Given the description of an element on the screen output the (x, y) to click on. 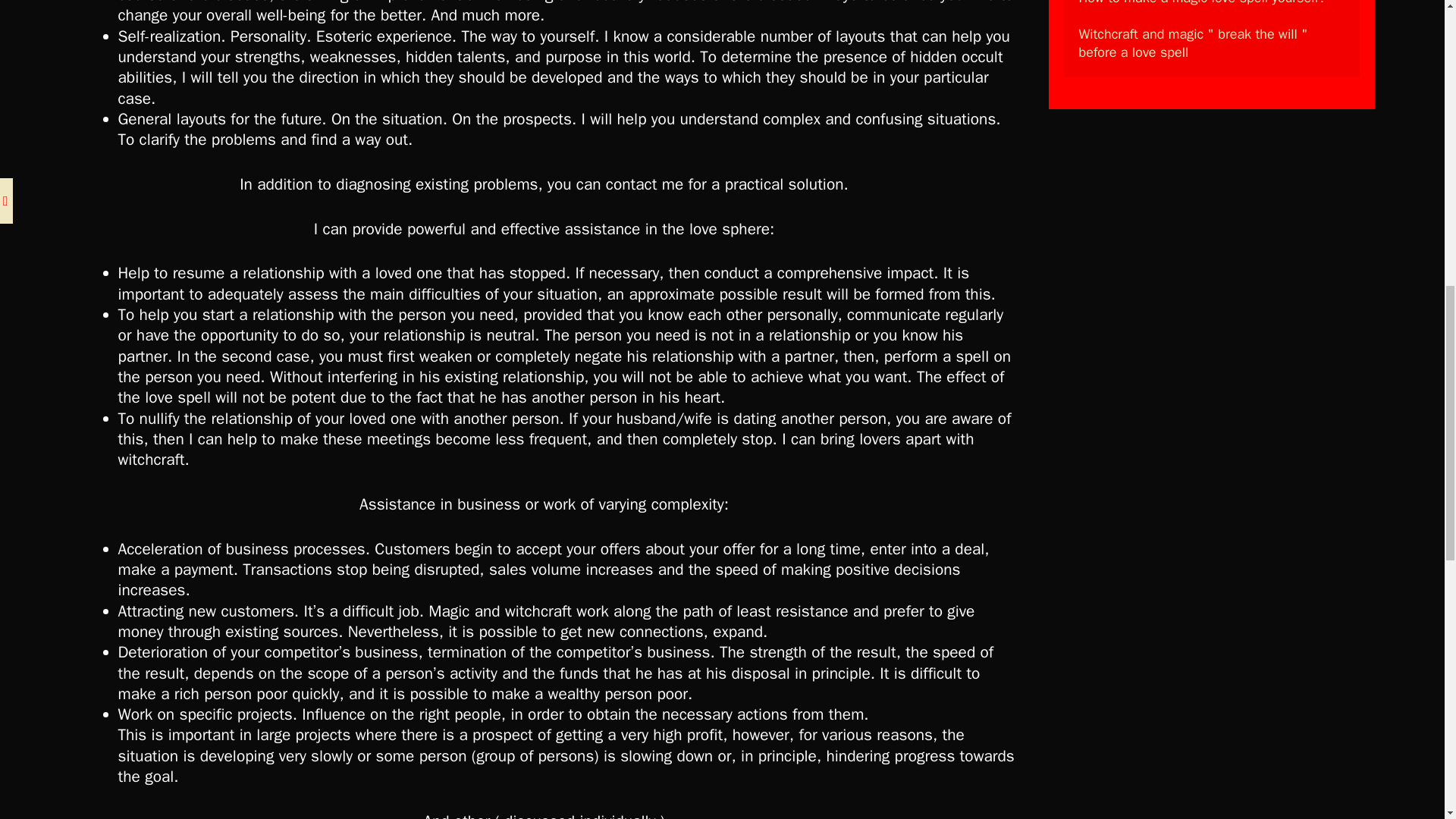
Witchcraft and magic " break the will " before a love spell (1194, 42)
How to make a magic love spell yourself? (1201, 2)
